Given the description of an element on the screen output the (x, y) to click on. 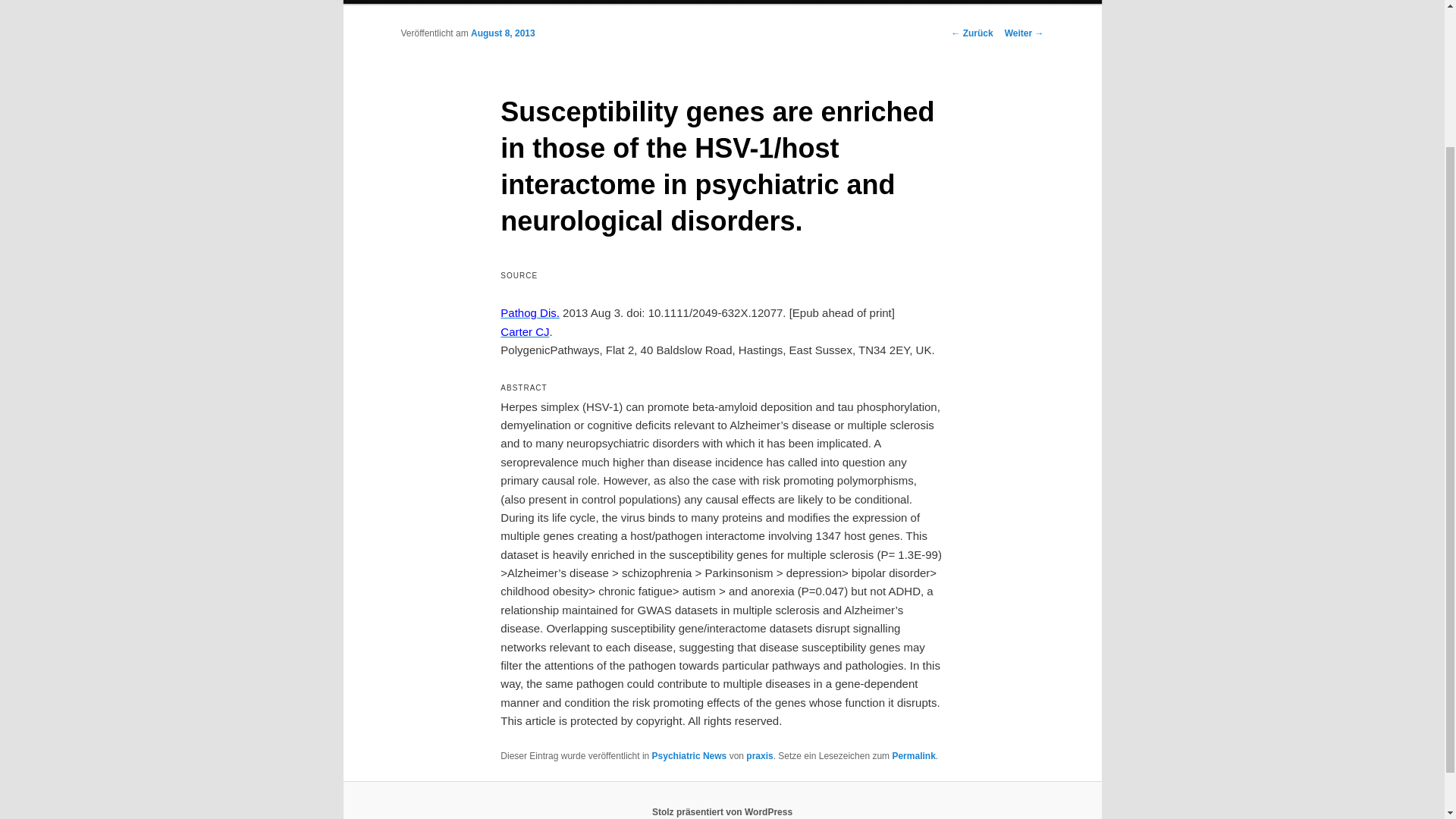
Semantic Personal Publishing Platform (722, 811)
Carter CJ (524, 331)
Pathogens and disease. (529, 312)
Newsletter (839, 2)
Psychiatric News (689, 756)
Willkommen (431, 2)
7:45 am (502, 32)
praxis (759, 756)
August 8, 2013 (502, 32)
Permalink (912, 756)
